Given the description of an element on the screen output the (x, y) to click on. 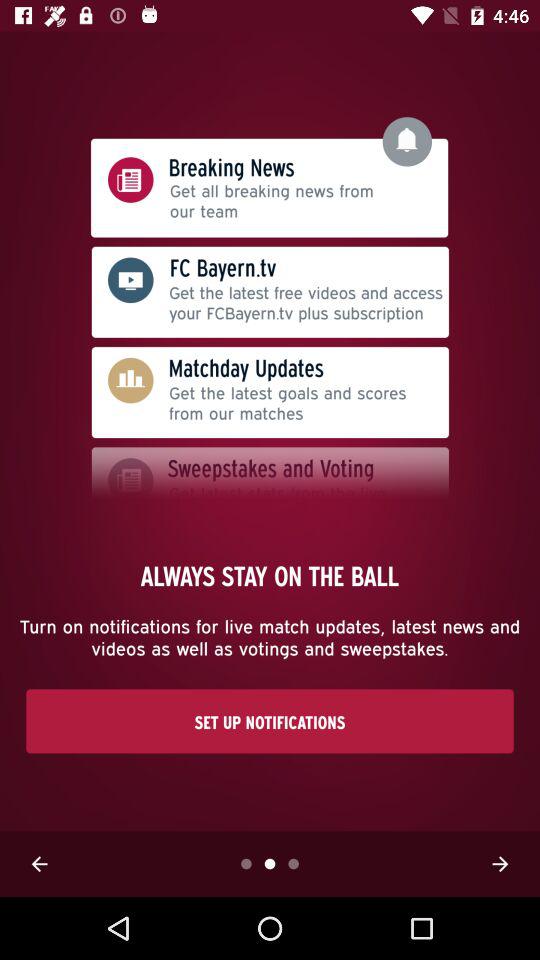
launch set up notifications item (269, 721)
